Given the description of an element on the screen output the (x, y) to click on. 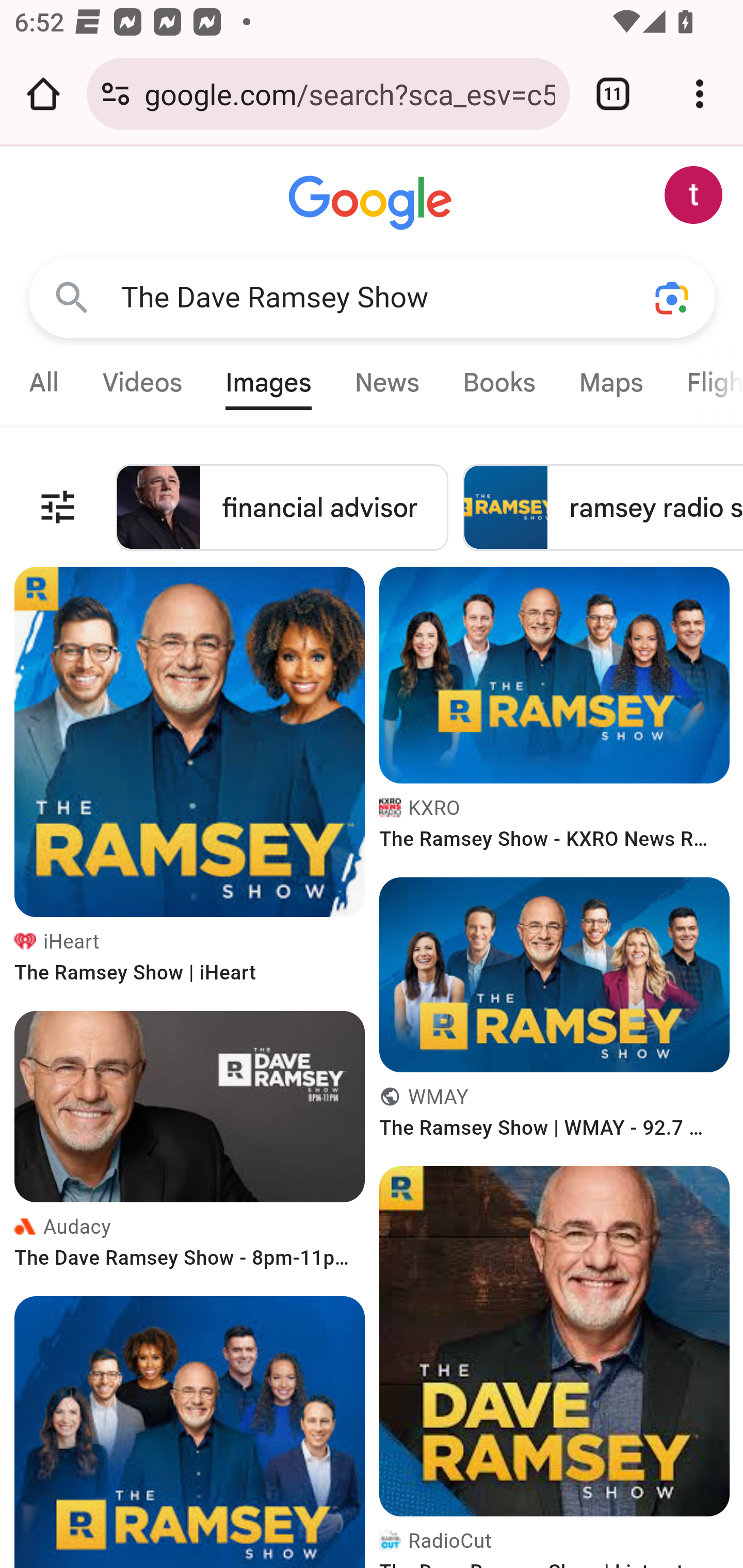
Open the home page (43, 93)
Connection is secure (115, 93)
Switch or close tabs (612, 93)
Customize and control Google Chrome (699, 93)
